Given the description of an element on the screen output the (x, y) to click on. 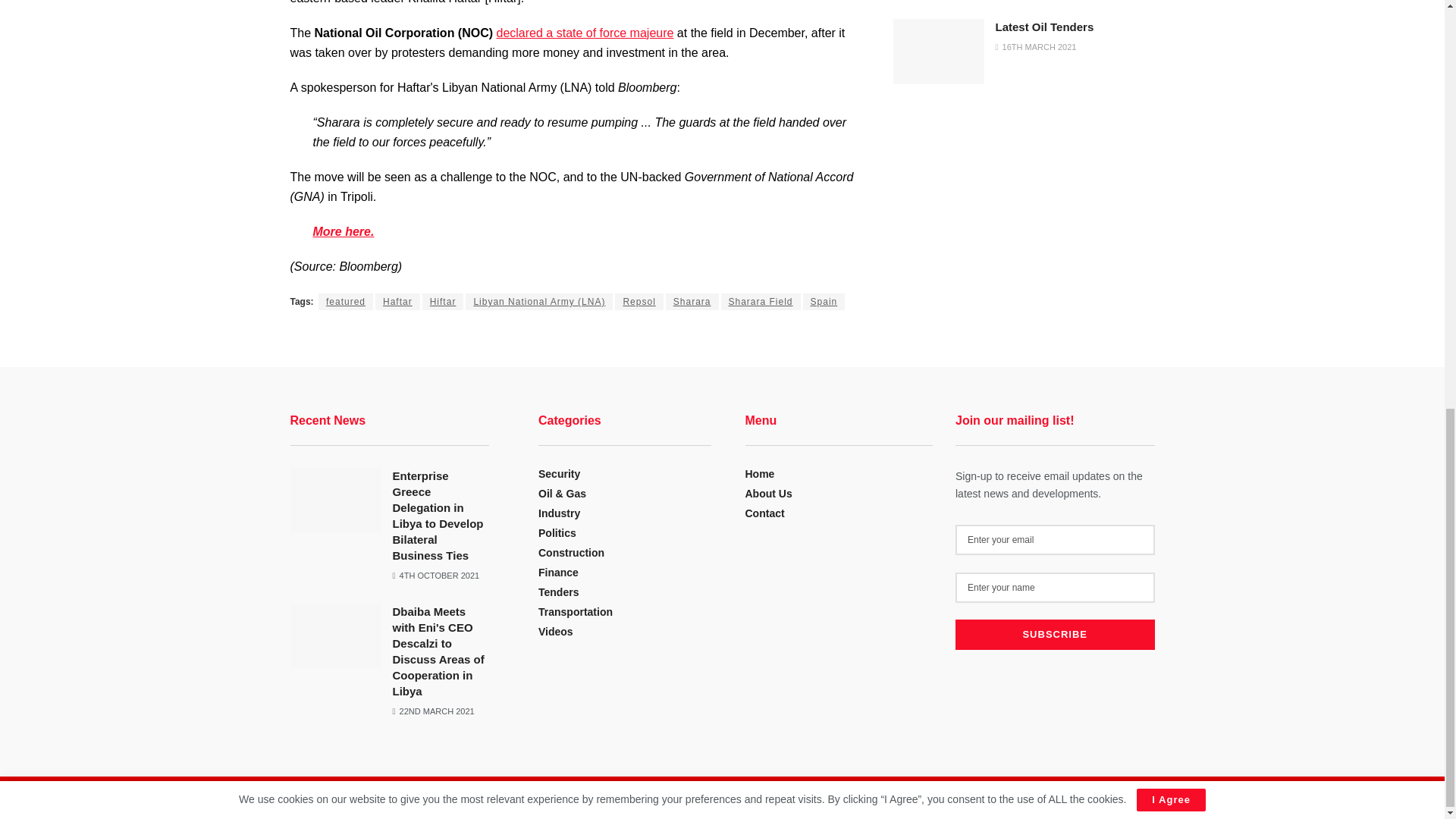
Libya Business News (384, 800)
Enter your email (1054, 539)
declared a state of force majeure (585, 32)
More here. (343, 231)
Subscribe (1054, 634)
Enter your name (1054, 587)
